Given the description of an element on the screen output the (x, y) to click on. 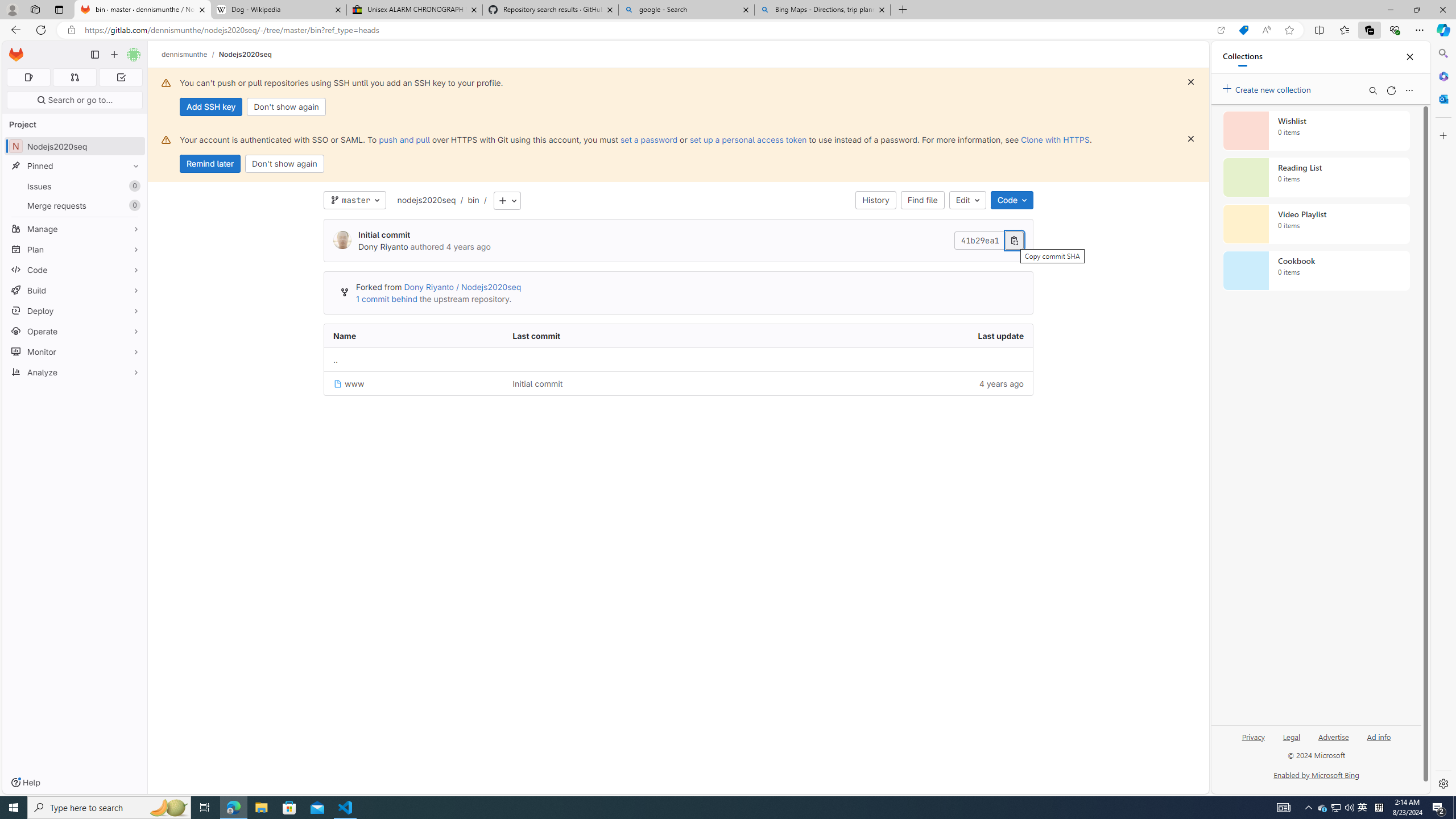
nodejs2020seq (426, 199)
Build (74, 289)
Legal (1292, 741)
Video Playlist collection, 0 items (1316, 223)
Dony Riyanto's avatar (341, 240)
Legal (1291, 736)
Last update (892, 336)
Monitor (74, 351)
